Given the description of an element on the screen output the (x, y) to click on. 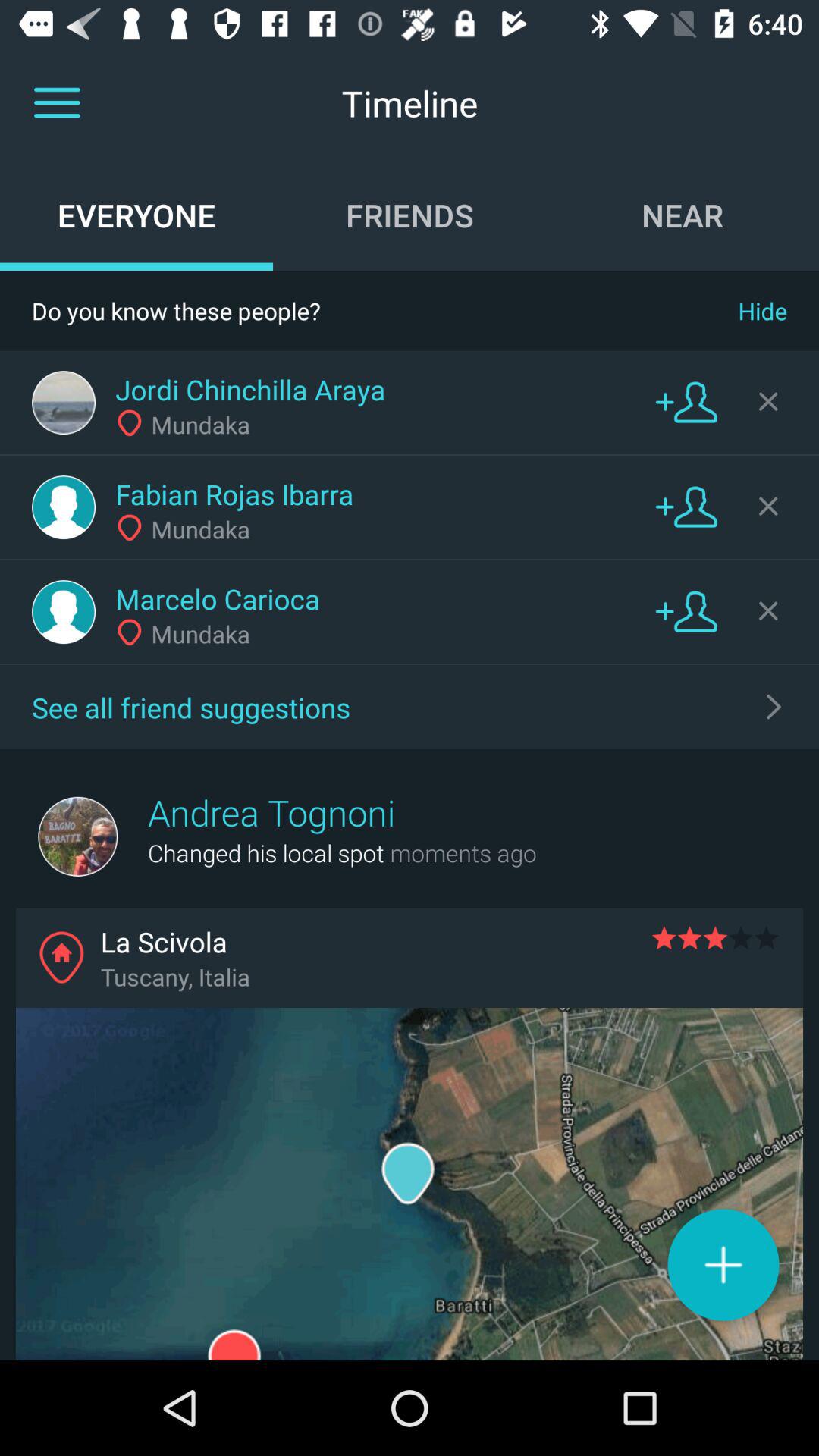
add as friend (686, 506)
